Given the description of an element on the screen output the (x, y) to click on. 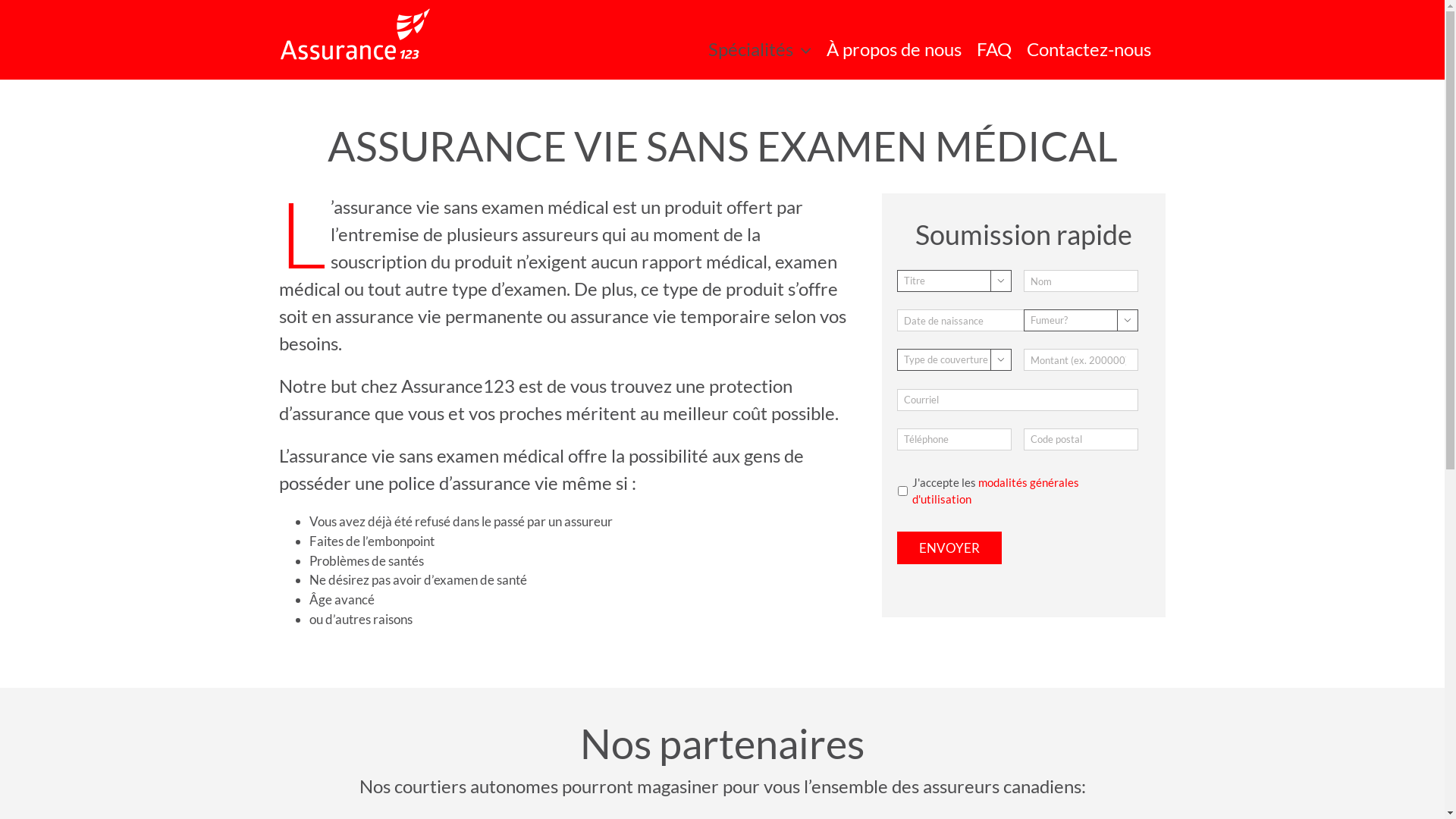
FAQ Element type: text (993, 48)
Envoyer Element type: text (949, 547)
Contactez-nous Element type: text (1088, 48)
